Given the description of an element on the screen output the (x, y) to click on. 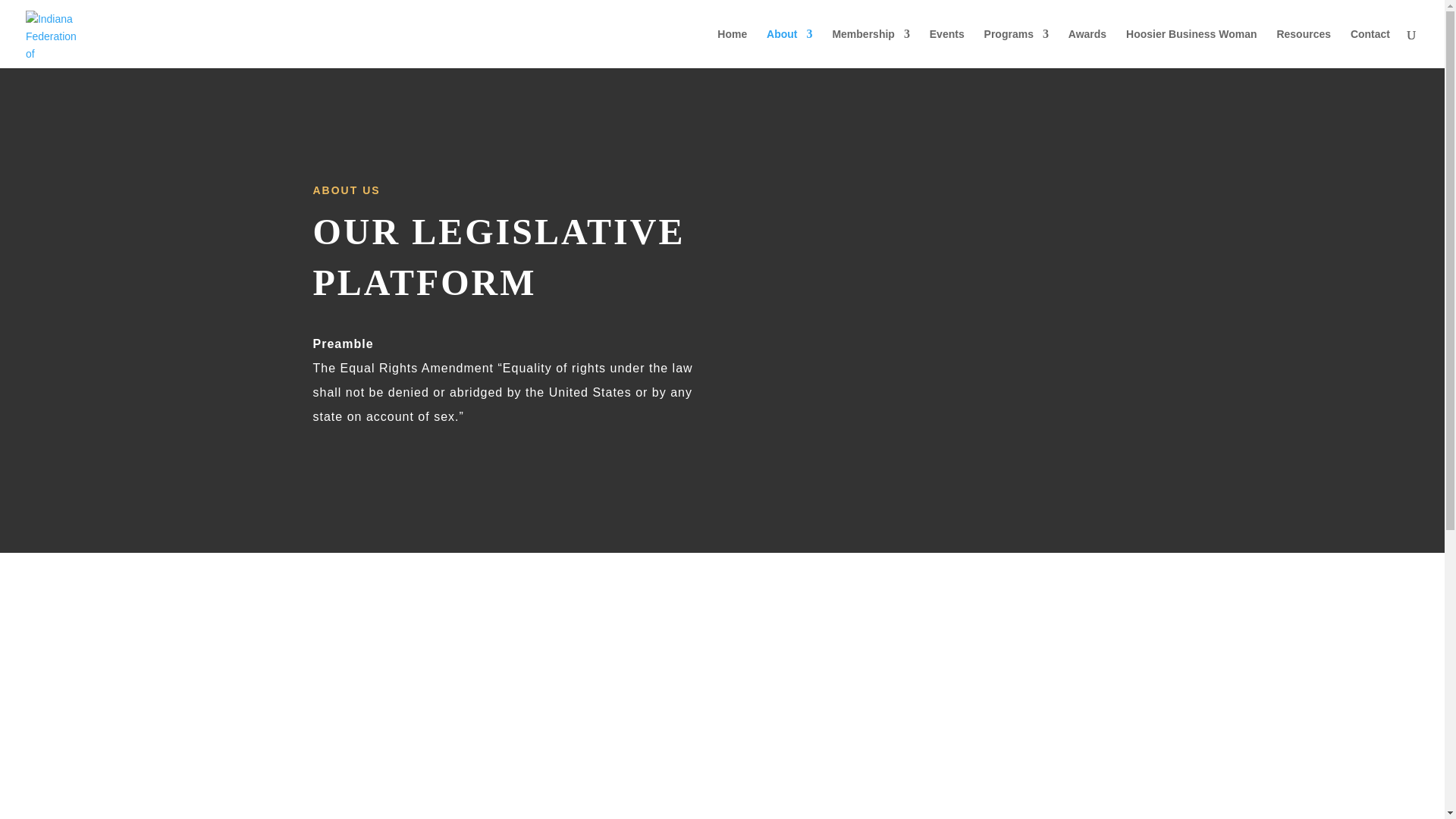
Resources (1303, 47)
About (789, 47)
Programs (1016, 47)
Contact (1370, 47)
Membership (869, 47)
Hoosier Business Woman (1190, 47)
Awards (1087, 47)
